Given the description of an element on the screen output the (x, y) to click on. 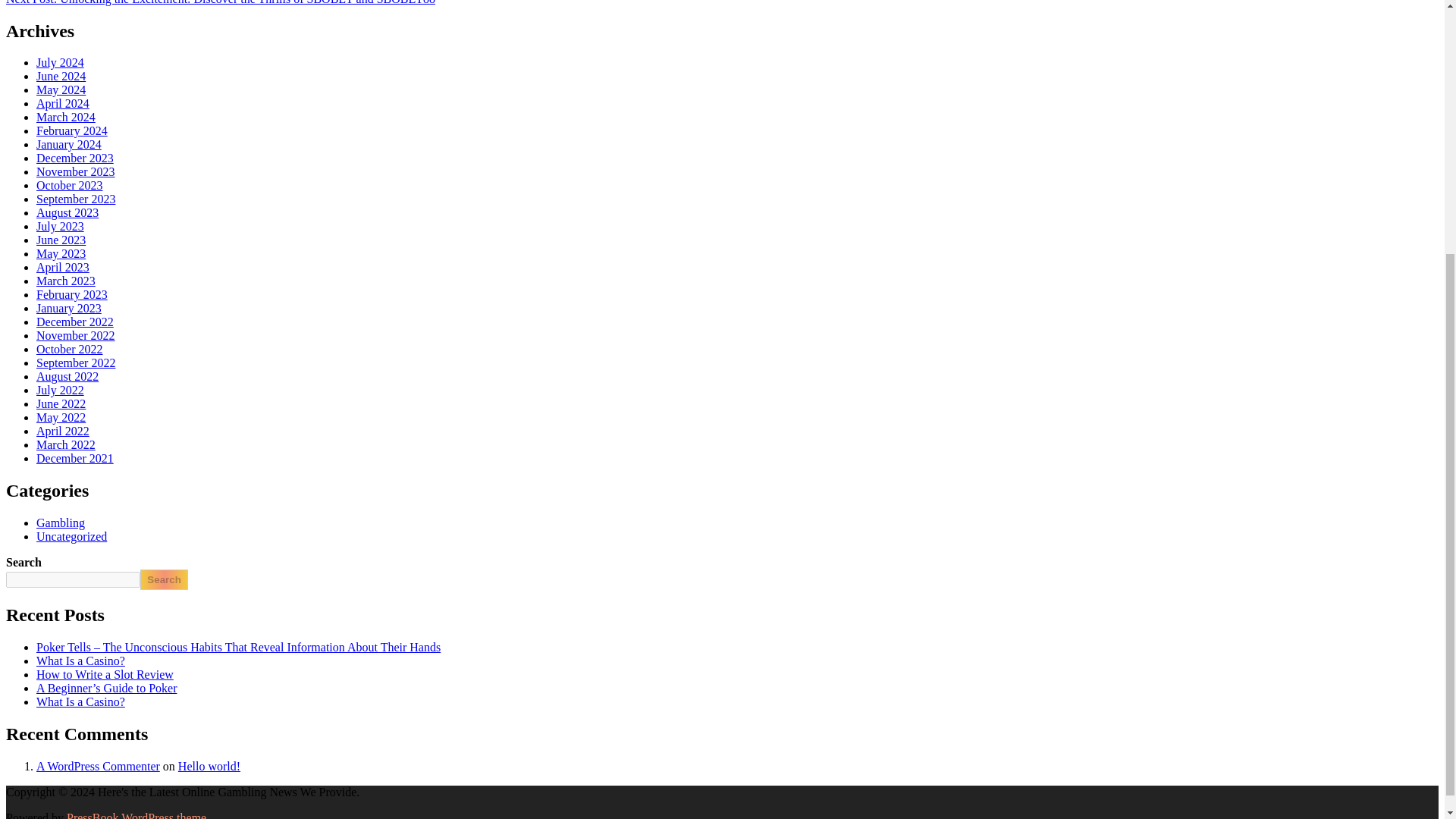
August 2022 (67, 376)
May 2023 (60, 253)
April 2024 (62, 103)
Gambling (60, 522)
May 2022 (60, 417)
March 2022 (66, 444)
June 2024 (60, 75)
Uncategorized (71, 535)
December 2023 (74, 157)
February 2023 (71, 294)
September 2022 (75, 362)
January 2023 (68, 308)
July 2022 (60, 390)
June 2023 (60, 239)
